Given the description of an element on the screen output the (x, y) to click on. 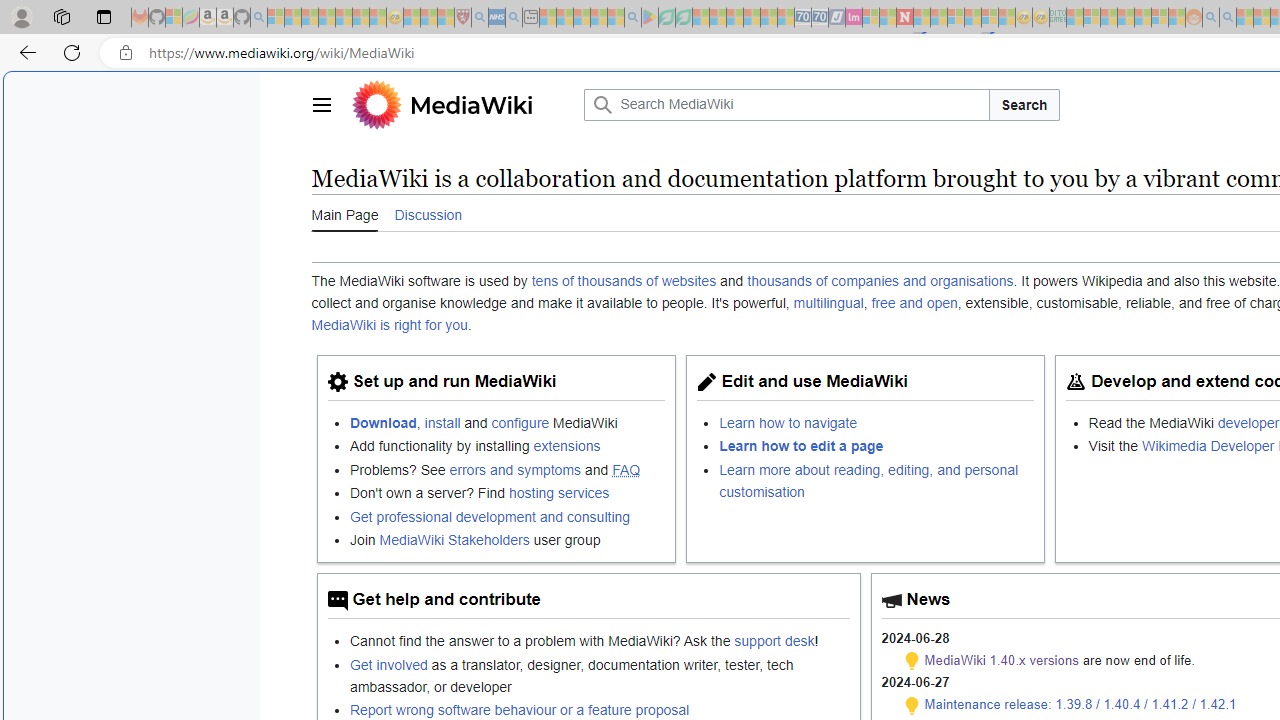
Problems? See errors and symptoms and FAQ (507, 468)
multilingual (828, 303)
utah sues federal government - Search - Sleeping (513, 17)
Report wrong software behaviour or a feature proposal (519, 709)
MediaWiki Stakeholders (453, 539)
Pets - MSN - Sleeping (598, 17)
Discussion (428, 213)
Trusted Community Engagement and Contributions | Guidelines (921, 17)
FAQ (626, 469)
Latest Politics News & Archive | Newsweek.com - Sleeping (904, 17)
Get professional development and consulting (507, 515)
Main Page (344, 213)
